Given the description of an element on the screen output the (x, y) to click on. 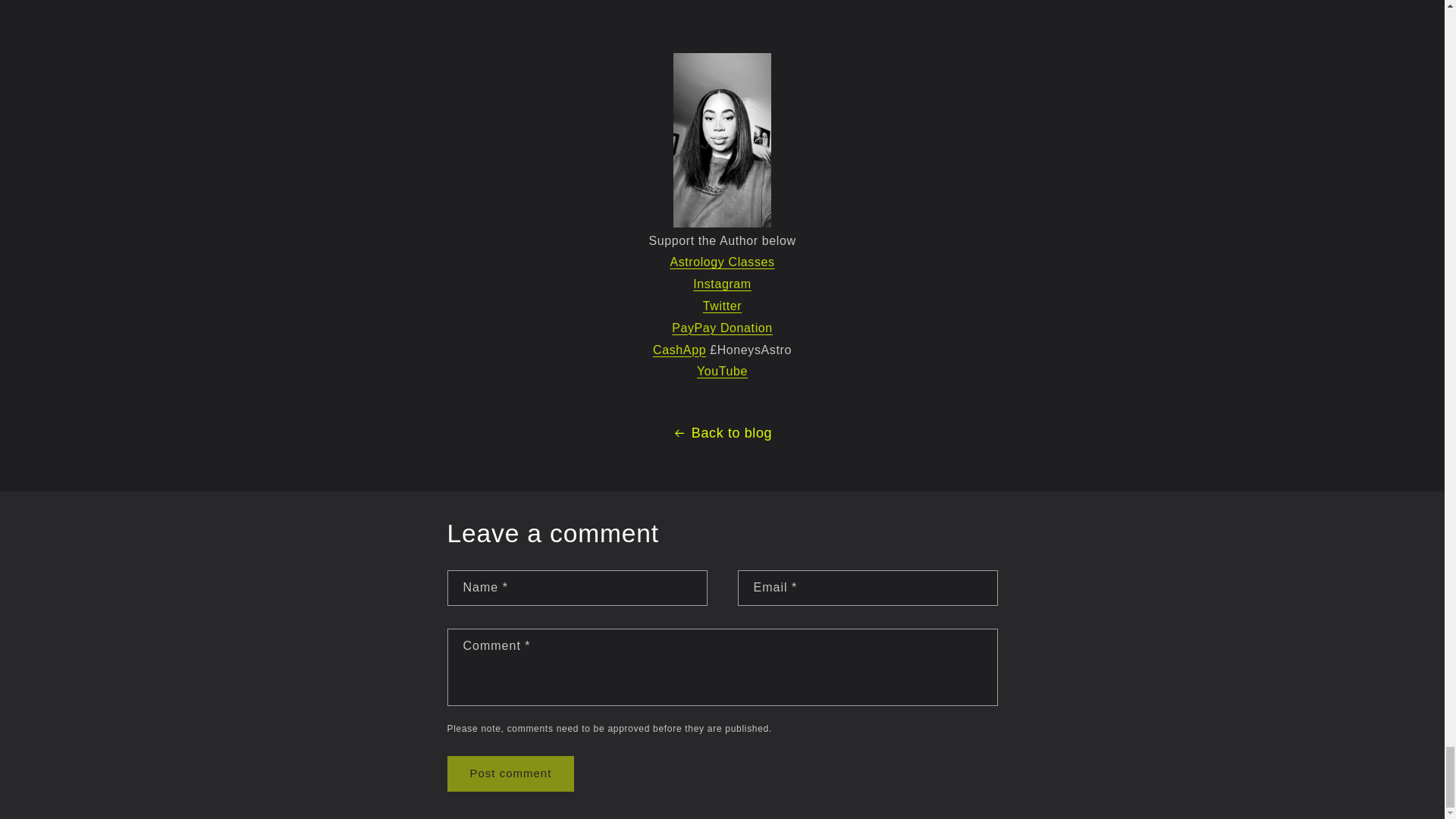
CashApp (679, 349)
Post comment (510, 773)
Post comment (510, 773)
PayPay Donation (722, 327)
Twitter (722, 305)
YouTube (722, 370)
Instagram (722, 283)
Astrology Classes (721, 261)
